Given the description of an element on the screen output the (x, y) to click on. 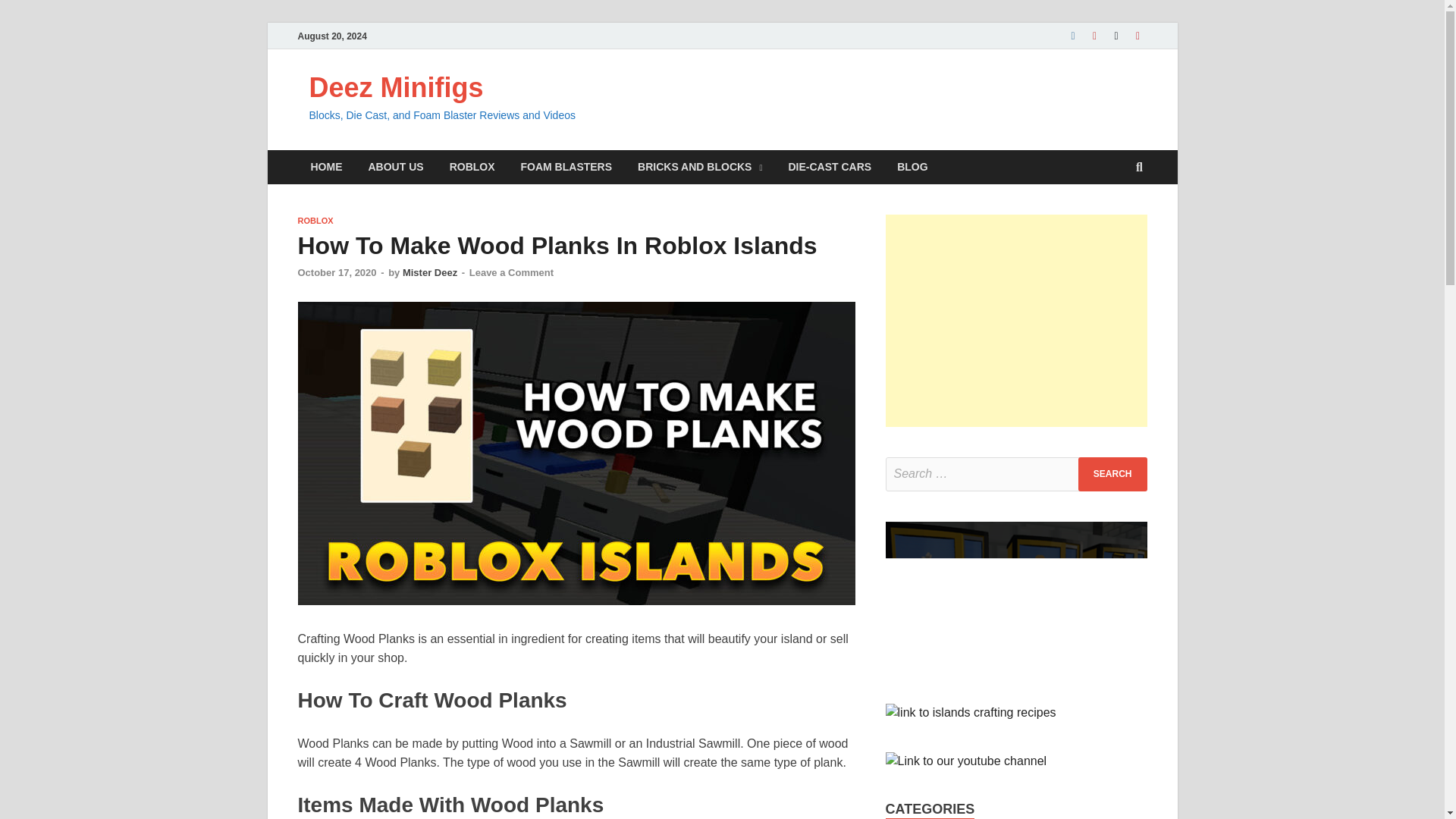
October 17, 2020 (336, 272)
ROBLOX (472, 166)
Search (1112, 474)
ABOUT US (395, 166)
Search (1112, 474)
Leave a Comment (510, 272)
FOAM BLASTERS (567, 166)
BRICKS AND BLOCKS (699, 166)
HOME (326, 166)
BLOG (911, 166)
